Given the description of an element on the screen output the (x, y) to click on. 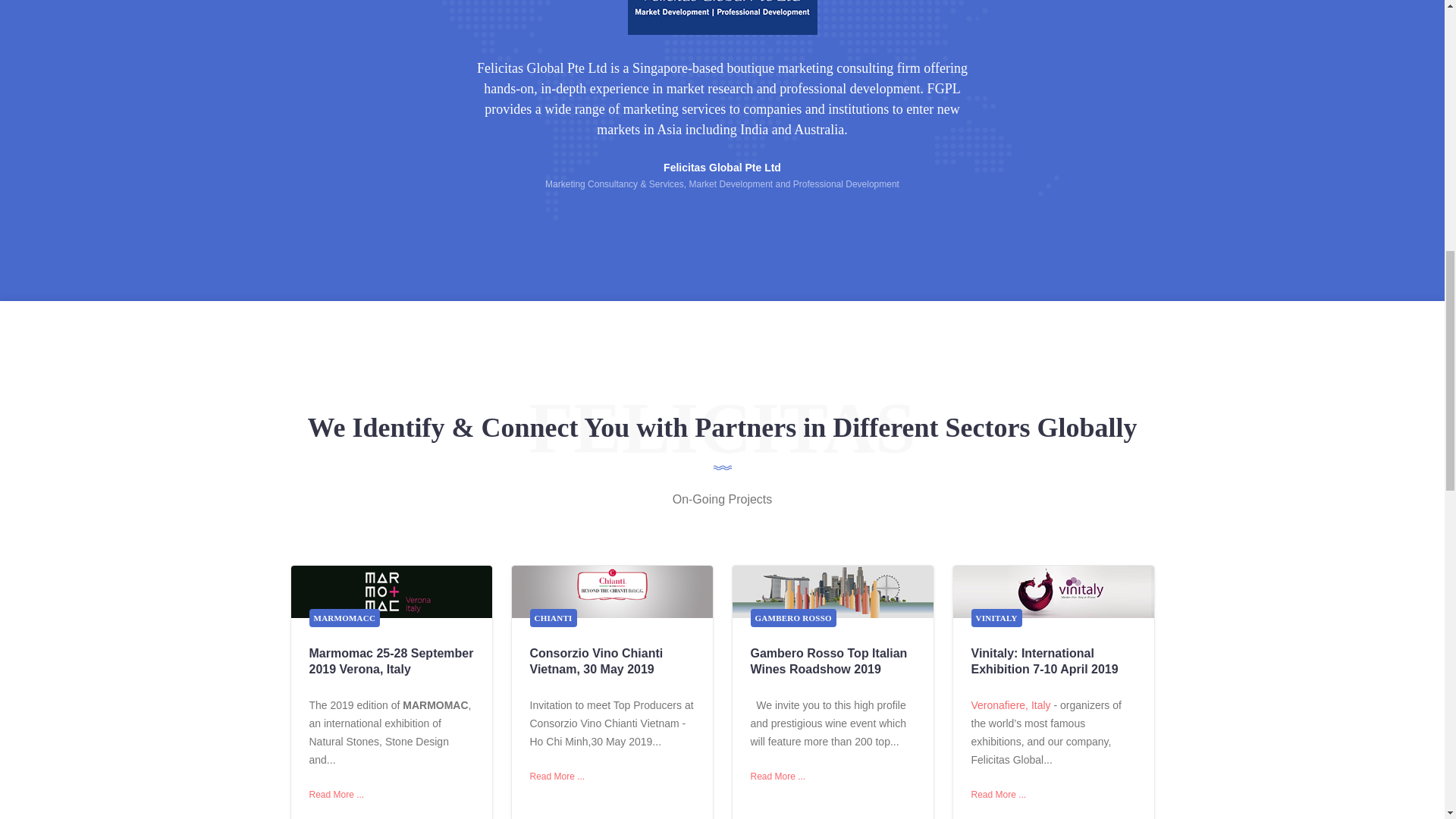
MARMOMACC (344, 618)
Read More ... (557, 776)
Marmomac 25-28 September 2019 Verona, Italy (391, 661)
Consorzio Vino Chianti Vietnam, 30 May 2019 (595, 661)
GAMBERO ROSSO (793, 618)
Read More ... (336, 794)
Gambero Rosso Top Italian Wines Roadshow 2019 (829, 661)
CHIANTI (553, 618)
